Given the description of an element on the screen output the (x, y) to click on. 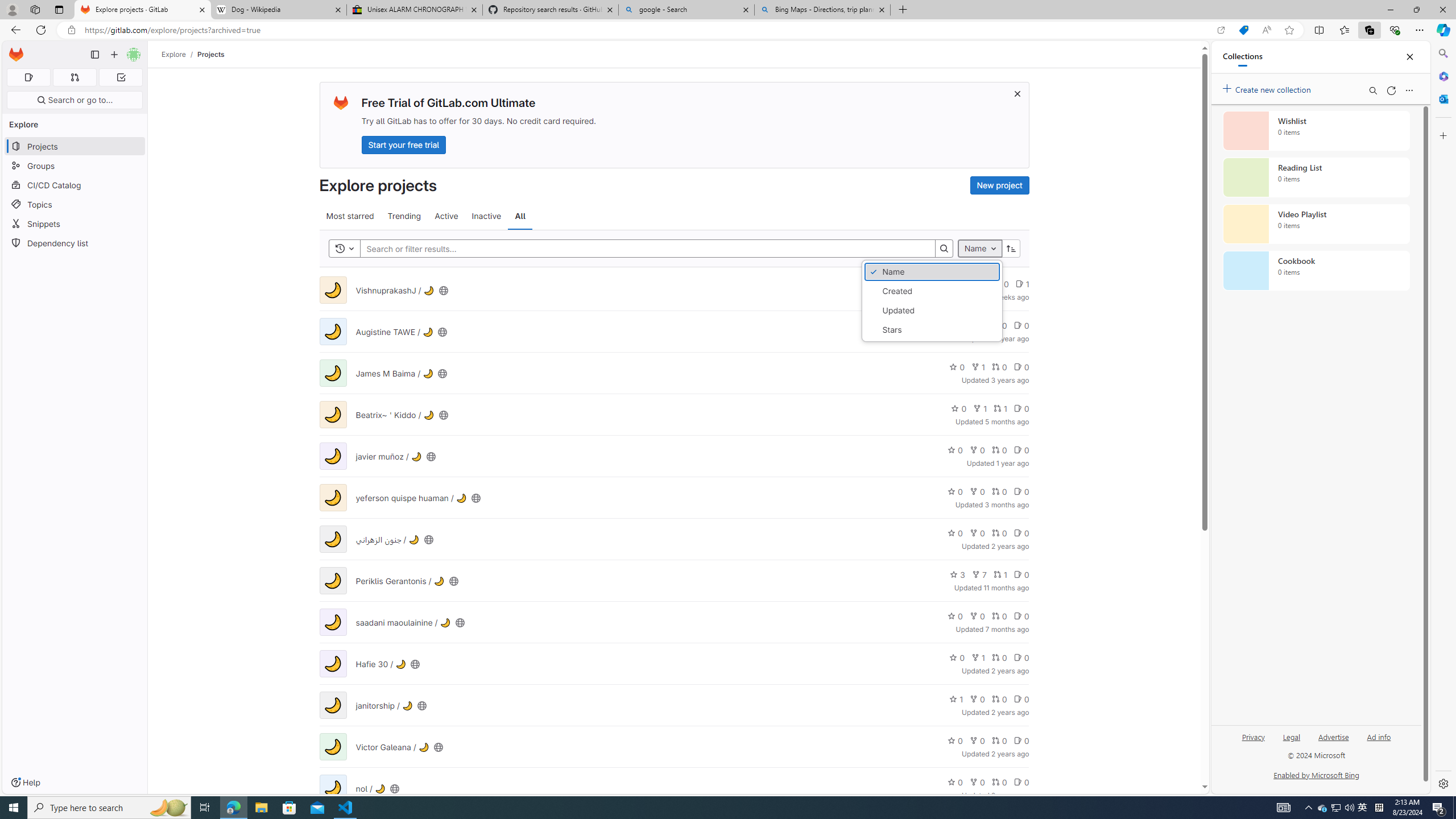
Snippets (74, 223)
Dismiss trial promotion (1017, 93)
All (520, 216)
Reading List collection, 0 items (1316, 177)
Sort direction: Ascending (1010, 248)
Stars (931, 330)
Create new... (113, 54)
Topics (74, 203)
Updated (931, 310)
